Given the description of an element on the screen output the (x, y) to click on. 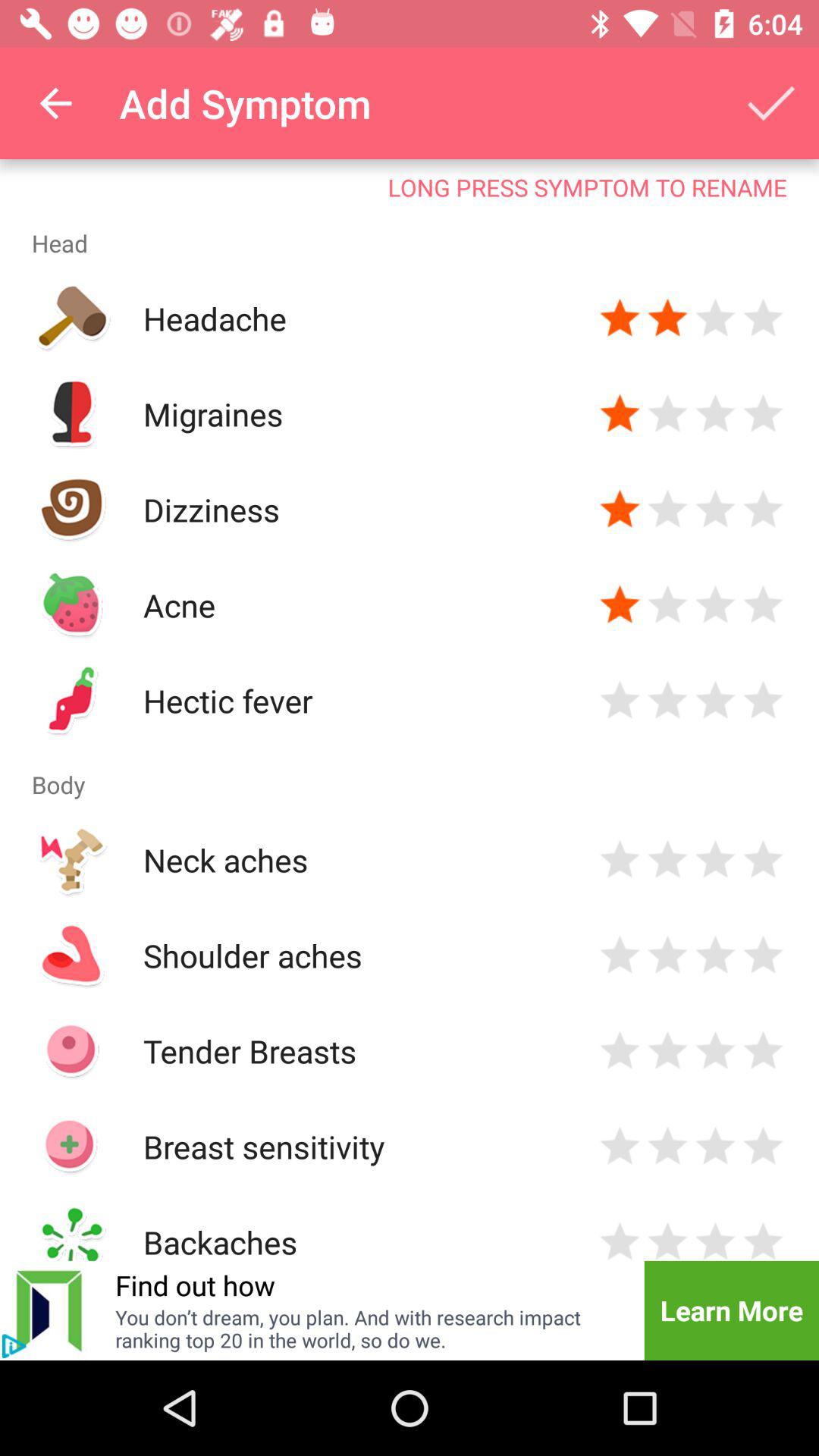
option to rate (715, 509)
